Given the description of an element on the screen output the (x, y) to click on. 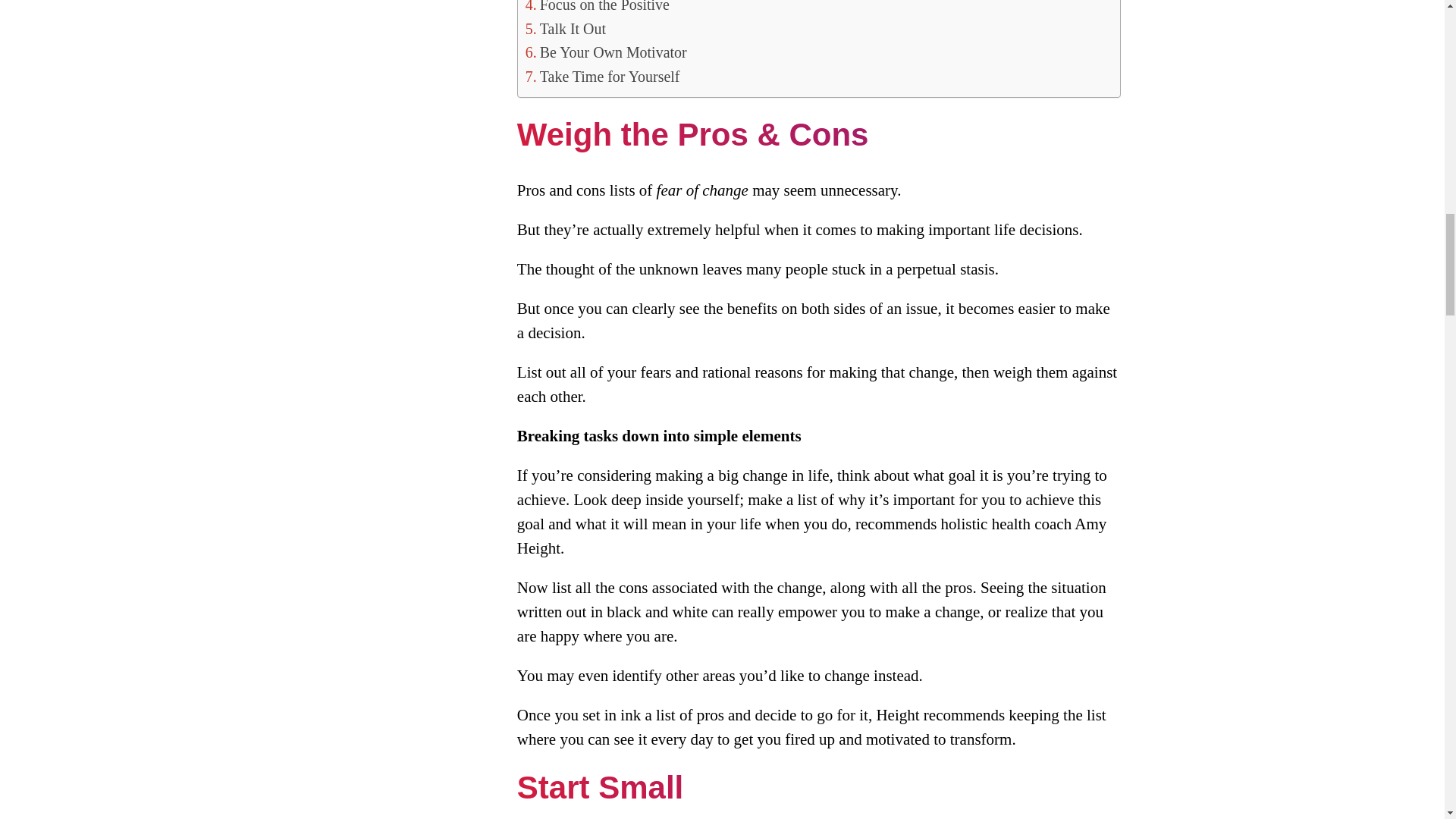
Focus on the Positive (597, 8)
Talk It Out (565, 29)
Be Your Own Motivator (606, 52)
Be Your Own Motivator (606, 52)
Take Time for Yourself (602, 77)
Take Time for Yourself (602, 77)
Focus on the Positive (597, 8)
Talk It Out (565, 29)
